Given the description of an element on the screen output the (x, y) to click on. 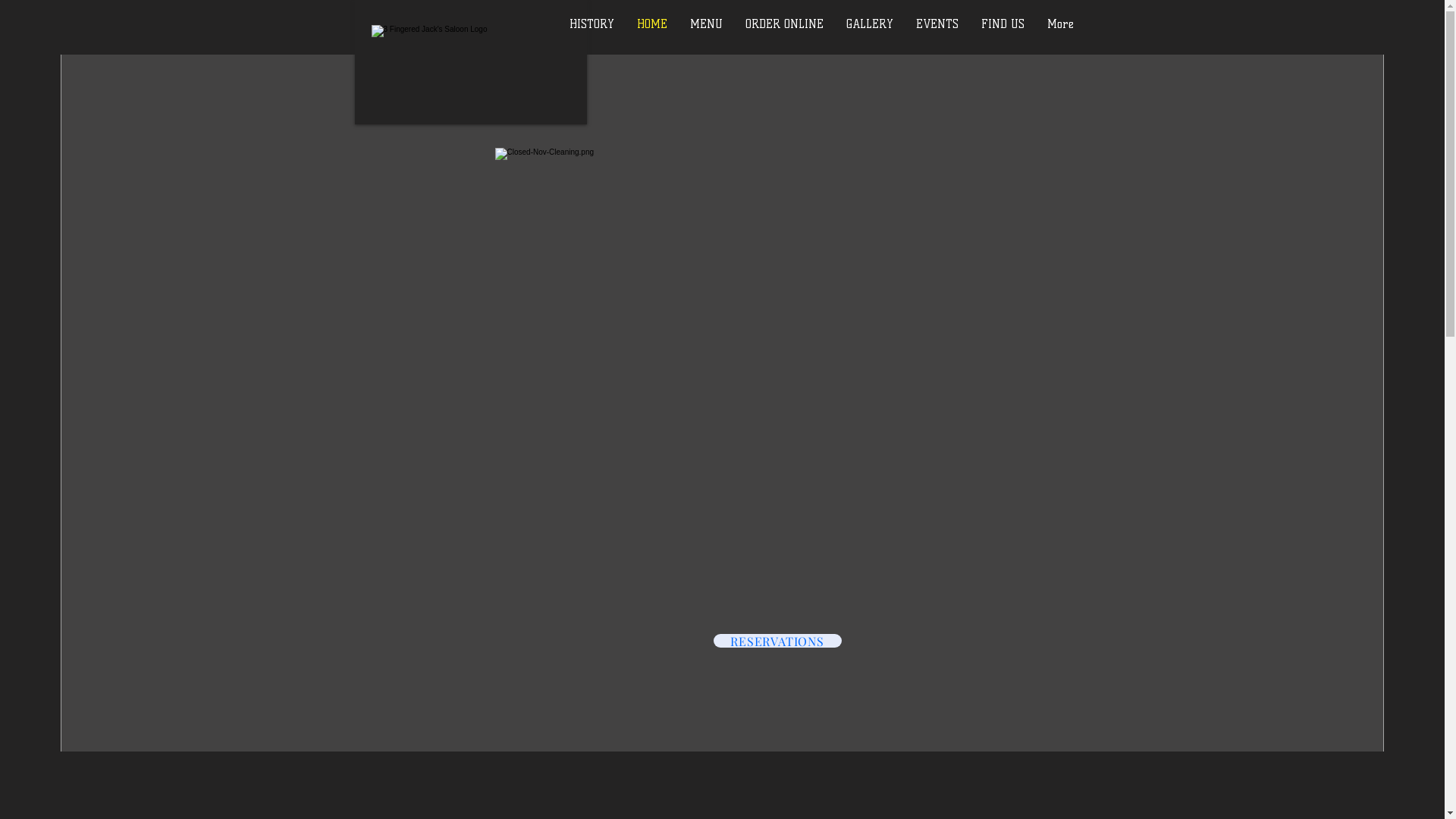
RESERVATIONS Element type: text (776, 640)
ORDER ONLINE Element type: text (784, 35)
HOME Element type: text (651, 35)
GALLERY Element type: text (869, 35)
EVENTS Element type: text (936, 35)
HISTORY Element type: text (591, 35)
FIND US Element type: text (1002, 35)
MENU Element type: text (706, 35)
